Given the description of an element on the screen output the (x, y) to click on. 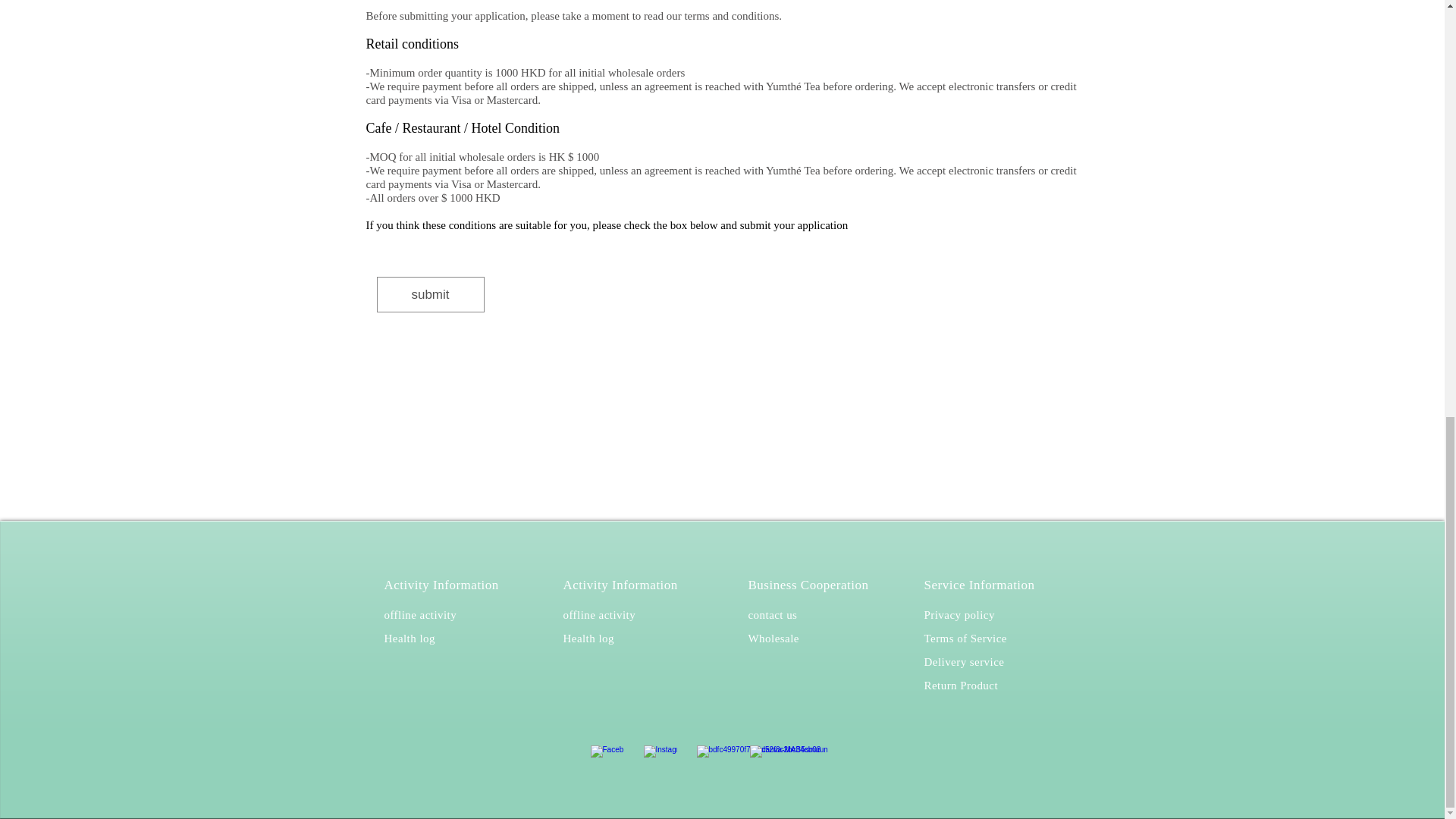
submit (429, 294)
Health log (408, 637)
Privacy policy (958, 614)
Terms of Service (964, 637)
offline activity (598, 614)
offline activity (420, 614)
Wholesale (772, 637)
Delivery service (963, 661)
Return Product (960, 684)
contact us (772, 614)
